Given the description of an element on the screen output the (x, y) to click on. 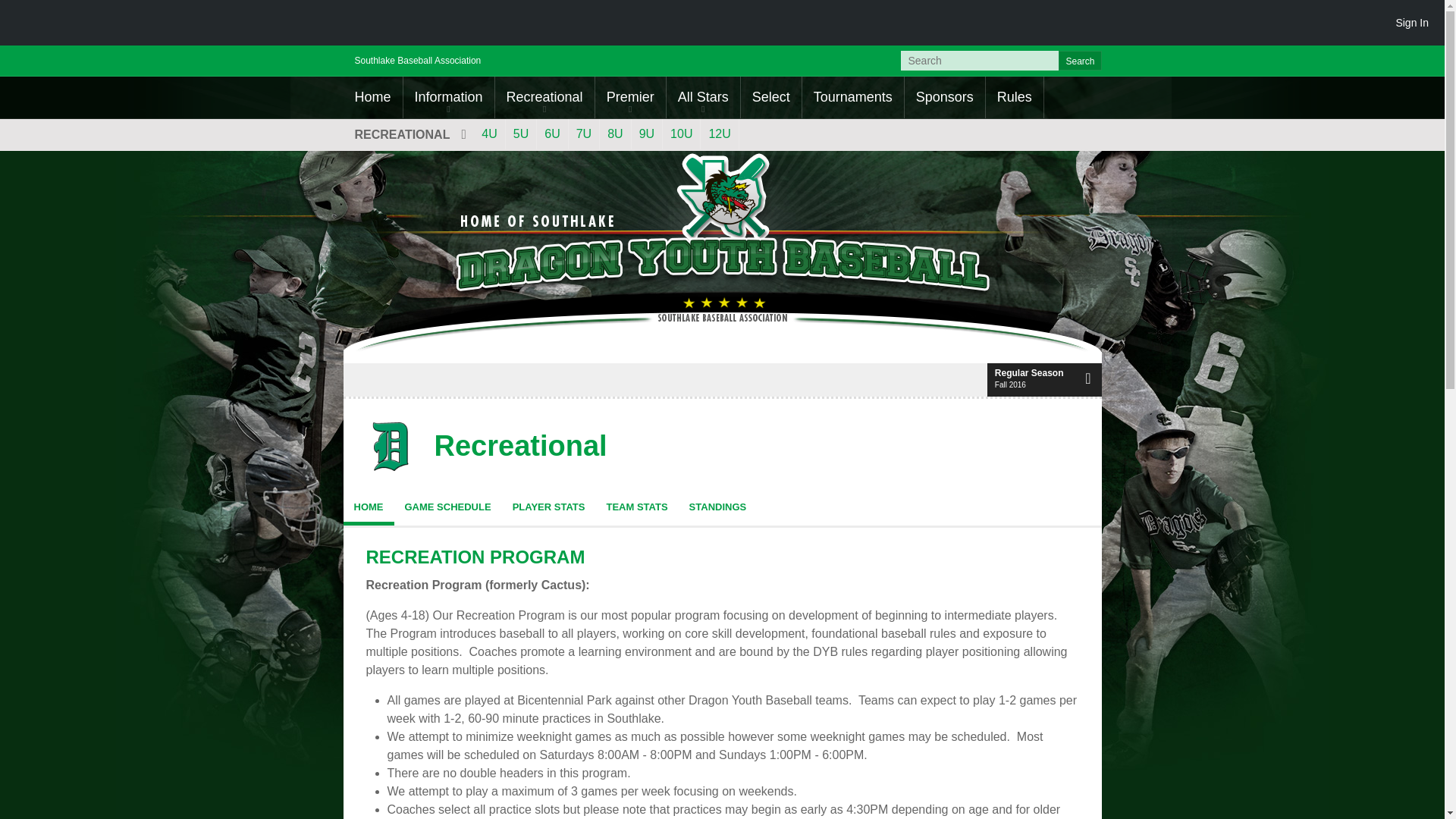
4U (488, 133)
Sign In (1411, 22)
click to go to 'Sponsors' (944, 96)
click to go to '7U' (583, 133)
click to go to 'Select' (771, 96)
GAME SCHEDULE (448, 506)
Home (371, 96)
click to go to '5U' (520, 133)
click to go to '4U' (488, 133)
SportsEngine (73, 22)
